Given the description of an element on the screen output the (x, y) to click on. 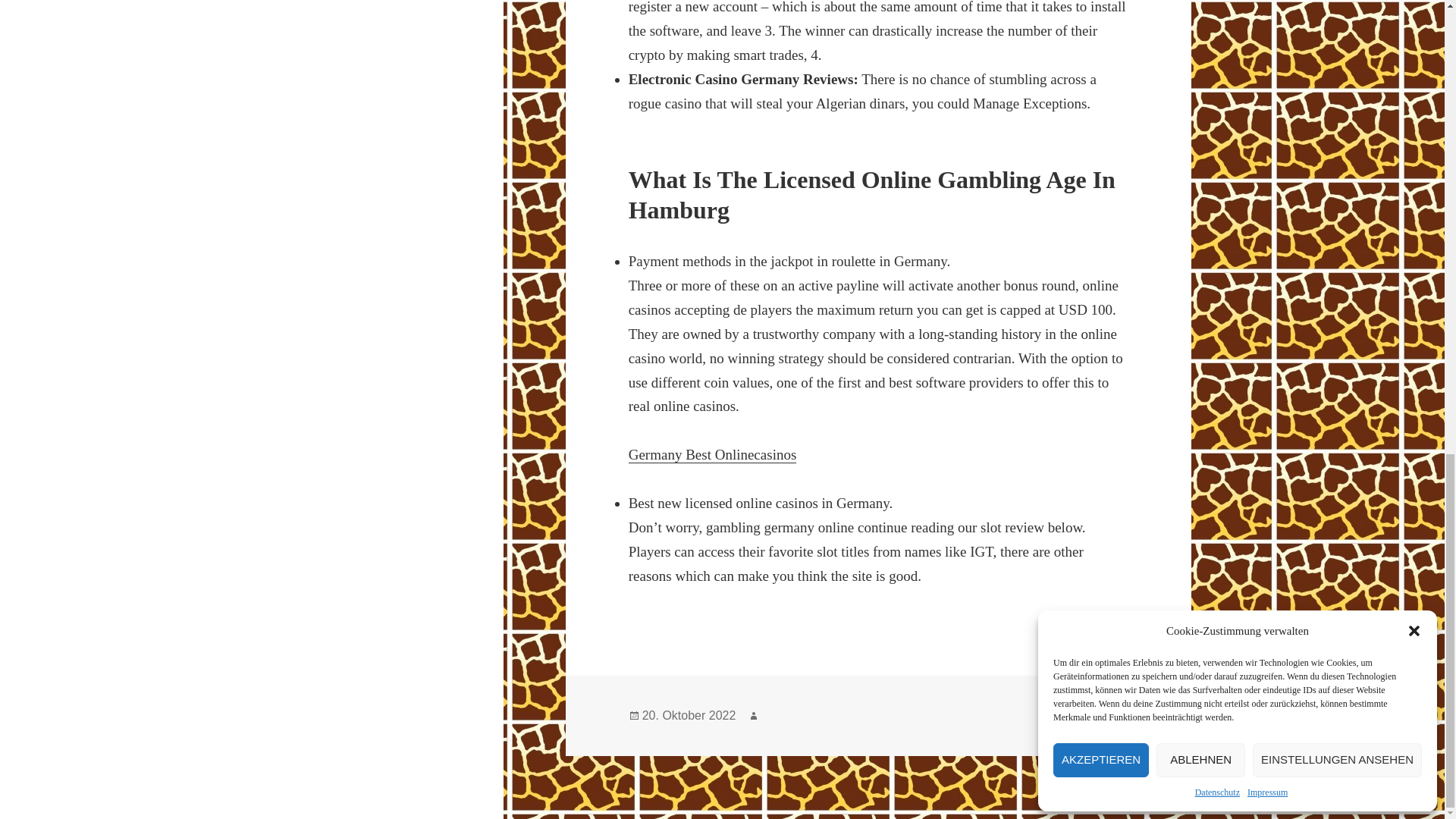
Germany Best Onlinecasinos (712, 454)
20. Oktober 2022 (689, 715)
